Given the description of an element on the screen output the (x, y) to click on. 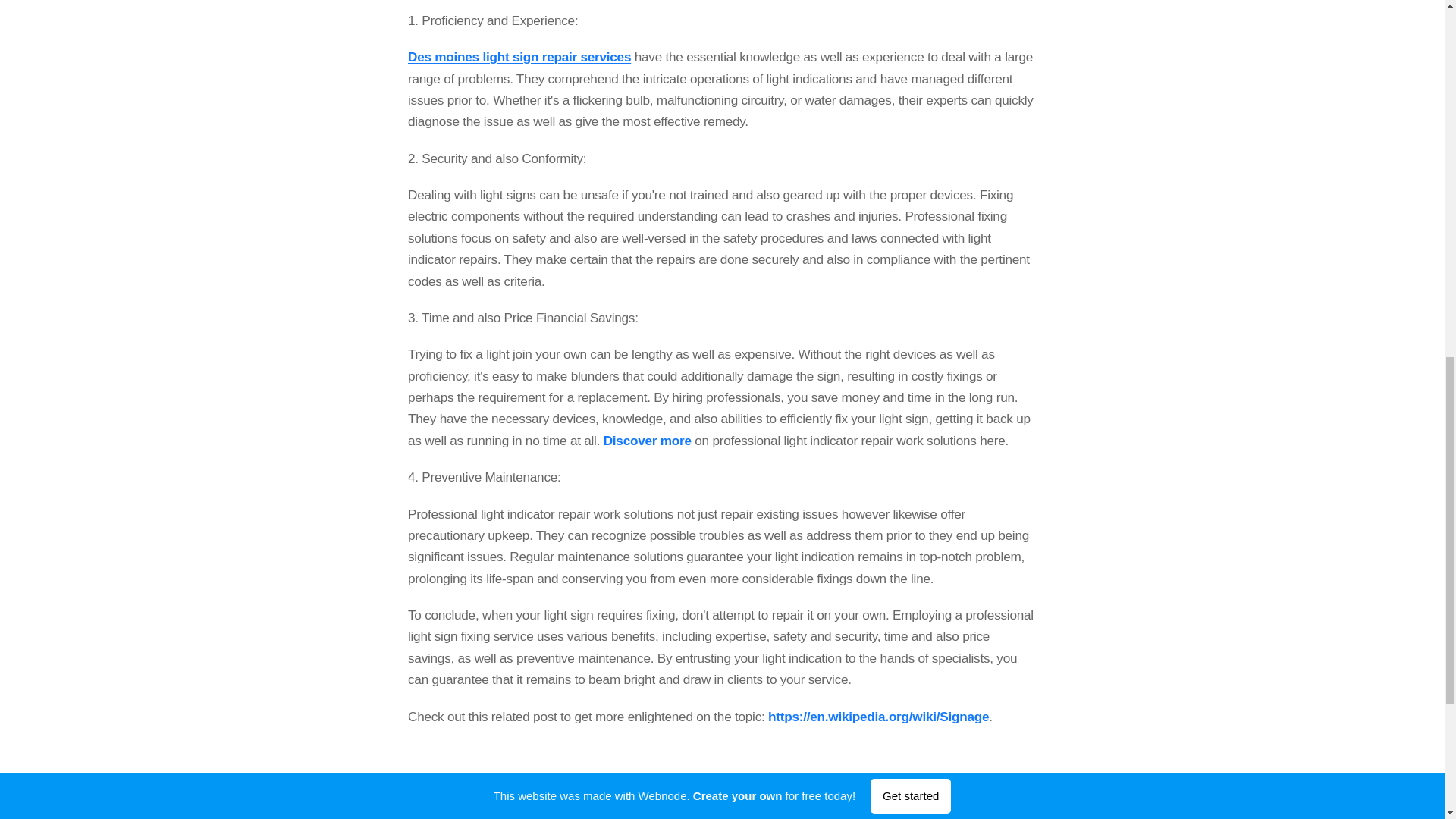
Des moines light sign repair services (518, 56)
Discover more (646, 440)
